Given the description of an element on the screen output the (x, y) to click on. 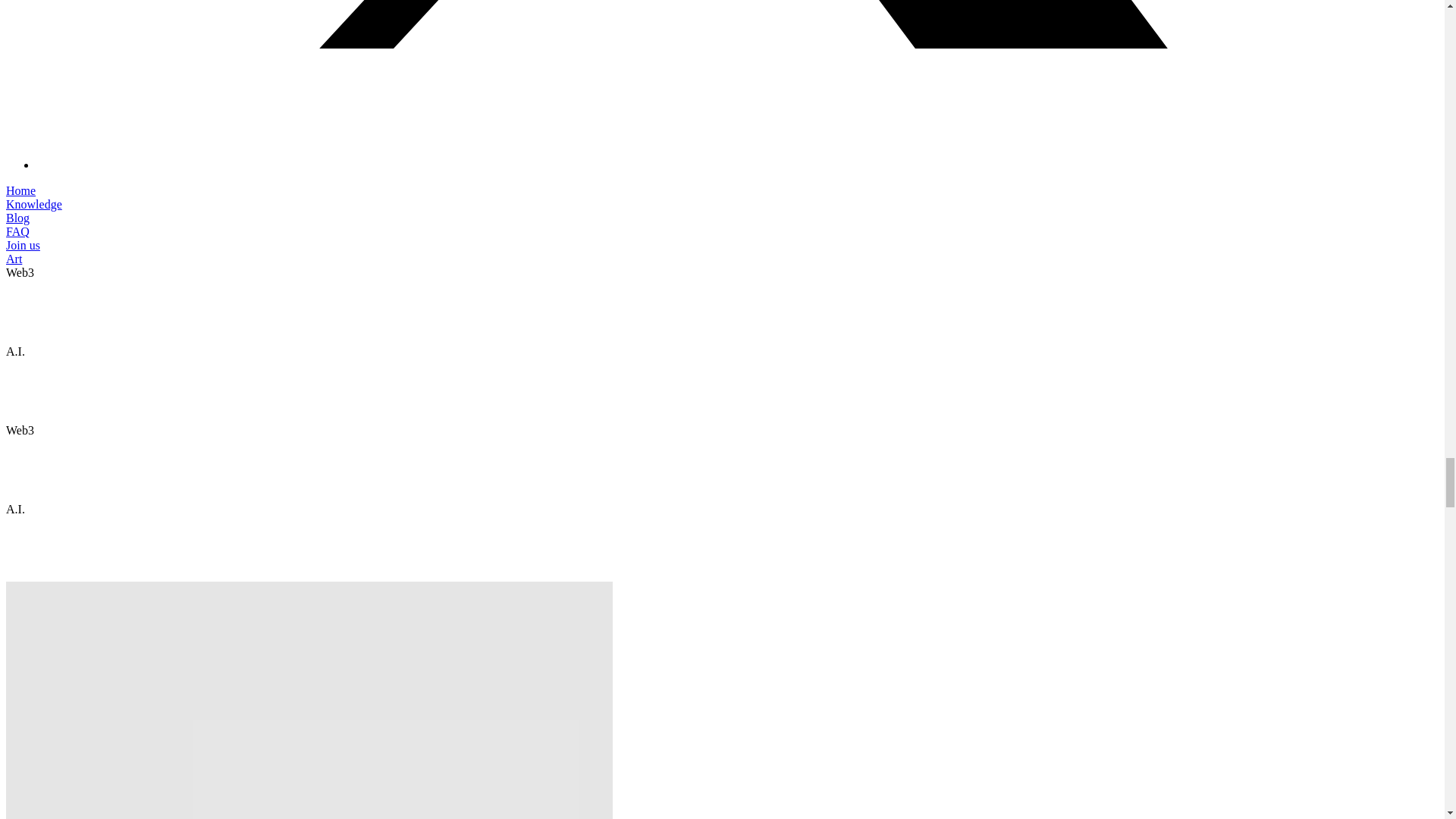
A.I. (14, 350)
Knowledge (33, 204)
Read more (32, 390)
Tools (18, 311)
A.I. (14, 508)
About the web3 (43, 297)
Read more (32, 325)
FAQ (17, 231)
Art (13, 258)
Join us (22, 245)
About the web3 (43, 455)
Web3 (19, 272)
Read more (32, 482)
Home (19, 190)
Tools (18, 404)
